Given the description of an element on the screen output the (x, y) to click on. 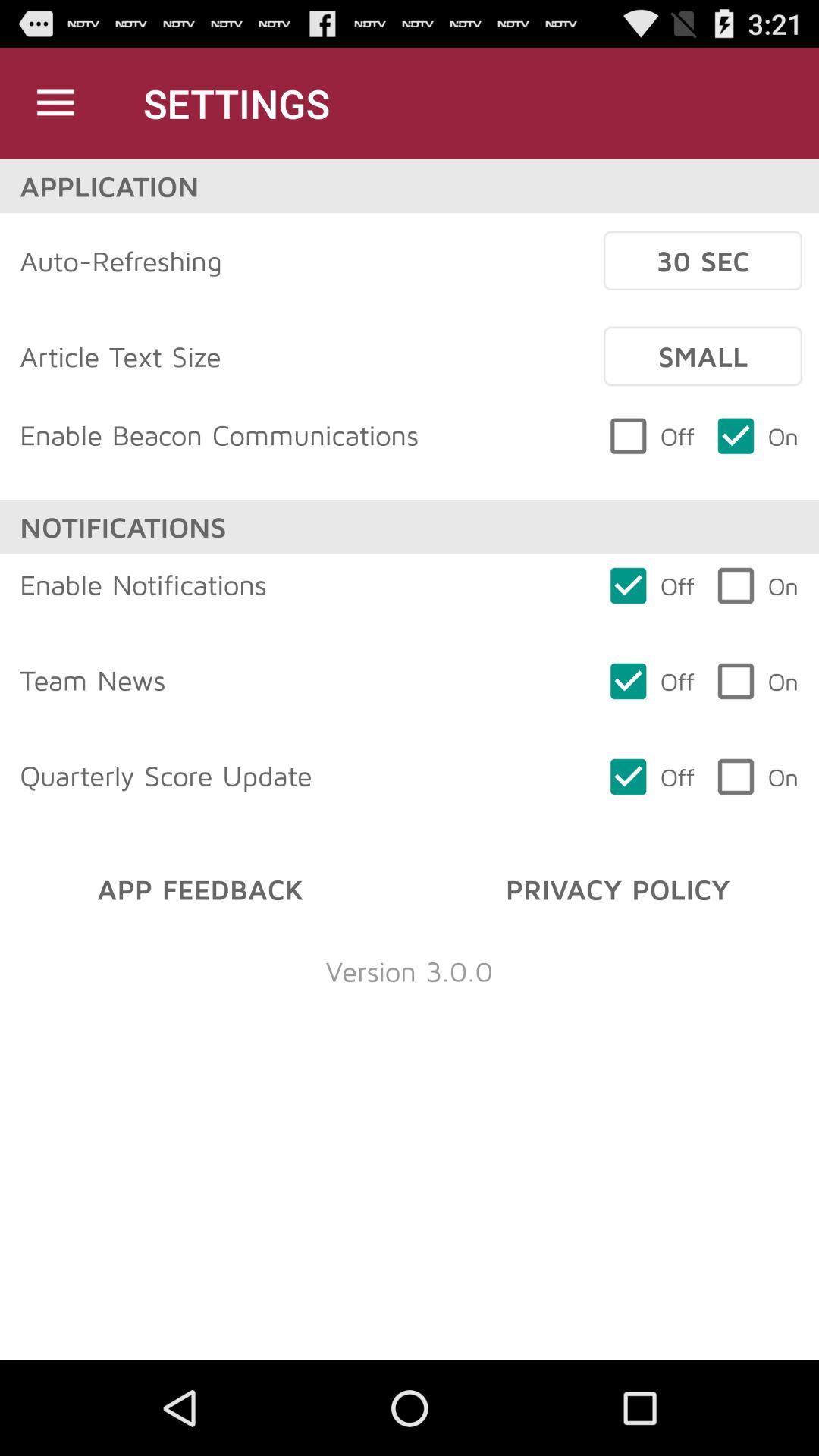
launch the version 3 0 icon (409, 970)
